Given the description of an element on the screen output the (x, y) to click on. 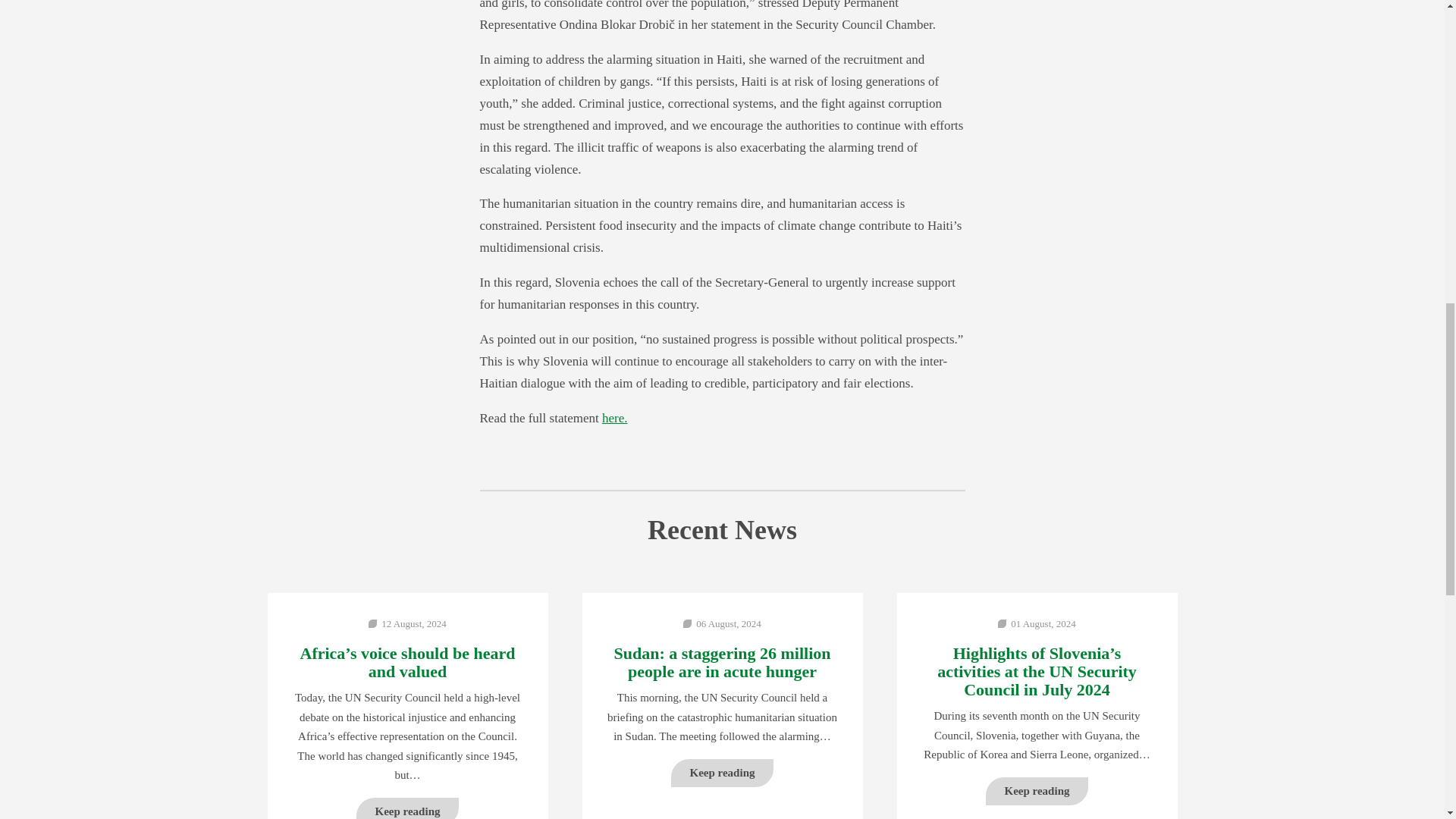
Sudan: a staggering 26 million people are in acute hunger (722, 662)
here. (614, 418)
Keep reading (1037, 791)
Keep reading (408, 808)
Keep reading (721, 773)
